Given the description of an element on the screen output the (x, y) to click on. 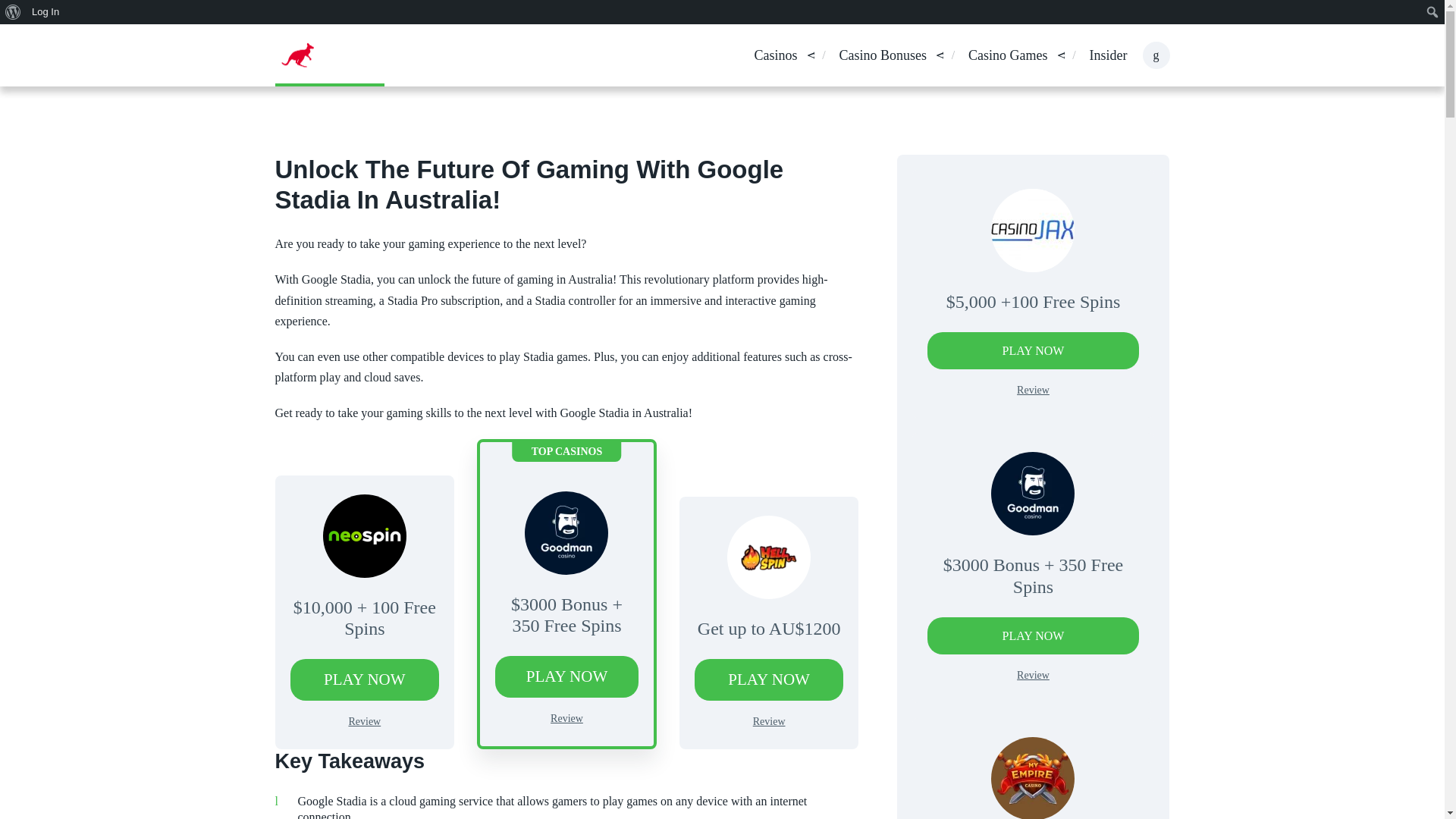
Insider (1107, 55)
Casino Bonuses (883, 55)
PLAY NOW (364, 680)
Review (363, 721)
Search (16, 13)
PLAY NOW (567, 676)
Casinos (775, 55)
Casino Games (1007, 55)
Log In (45, 12)
Review (566, 717)
PLAY NOW (769, 680)
